Given the description of an element on the screen output the (x, y) to click on. 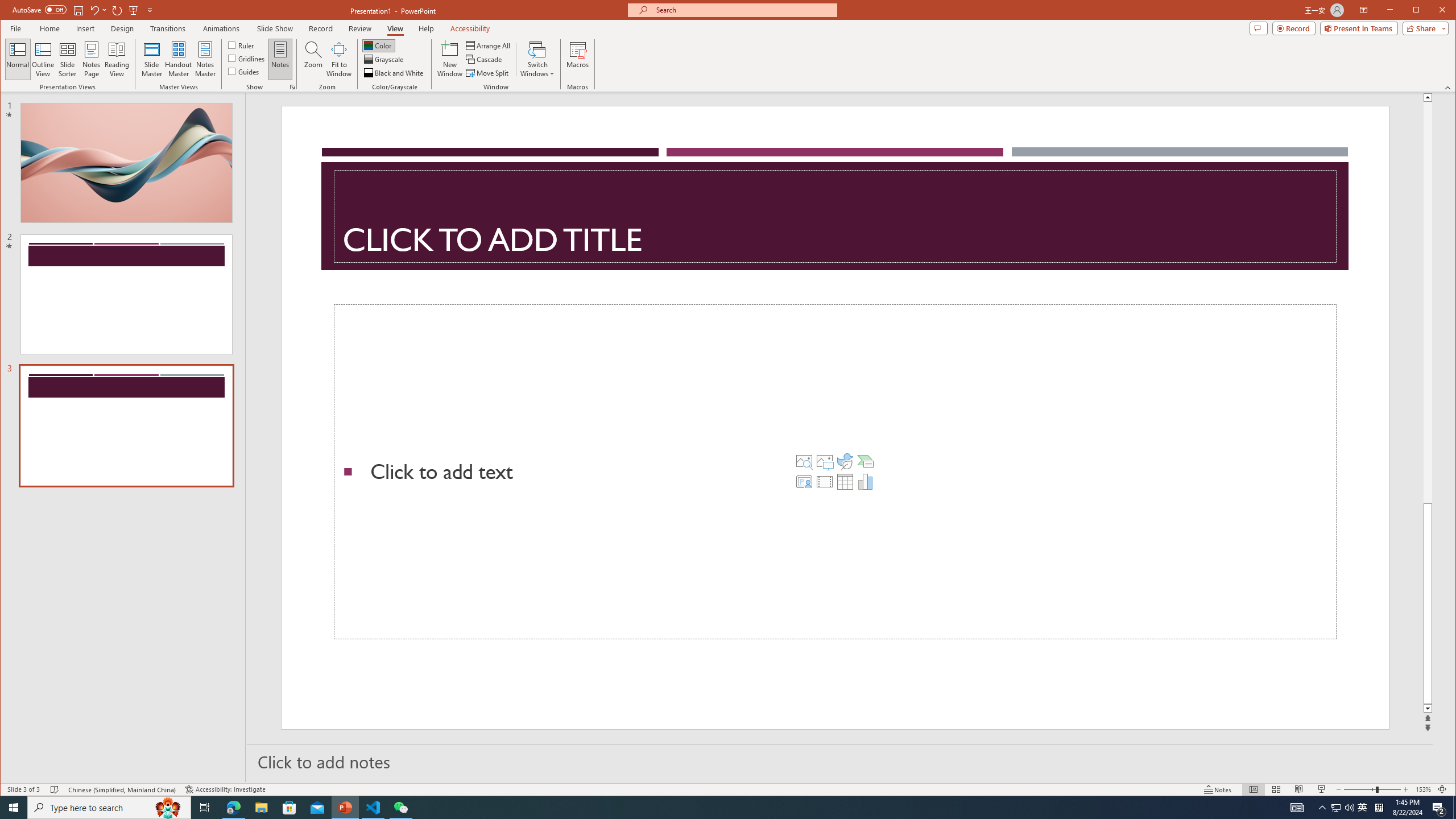
Macros (576, 59)
